Given the description of an element on the screen output the (x, y) to click on. 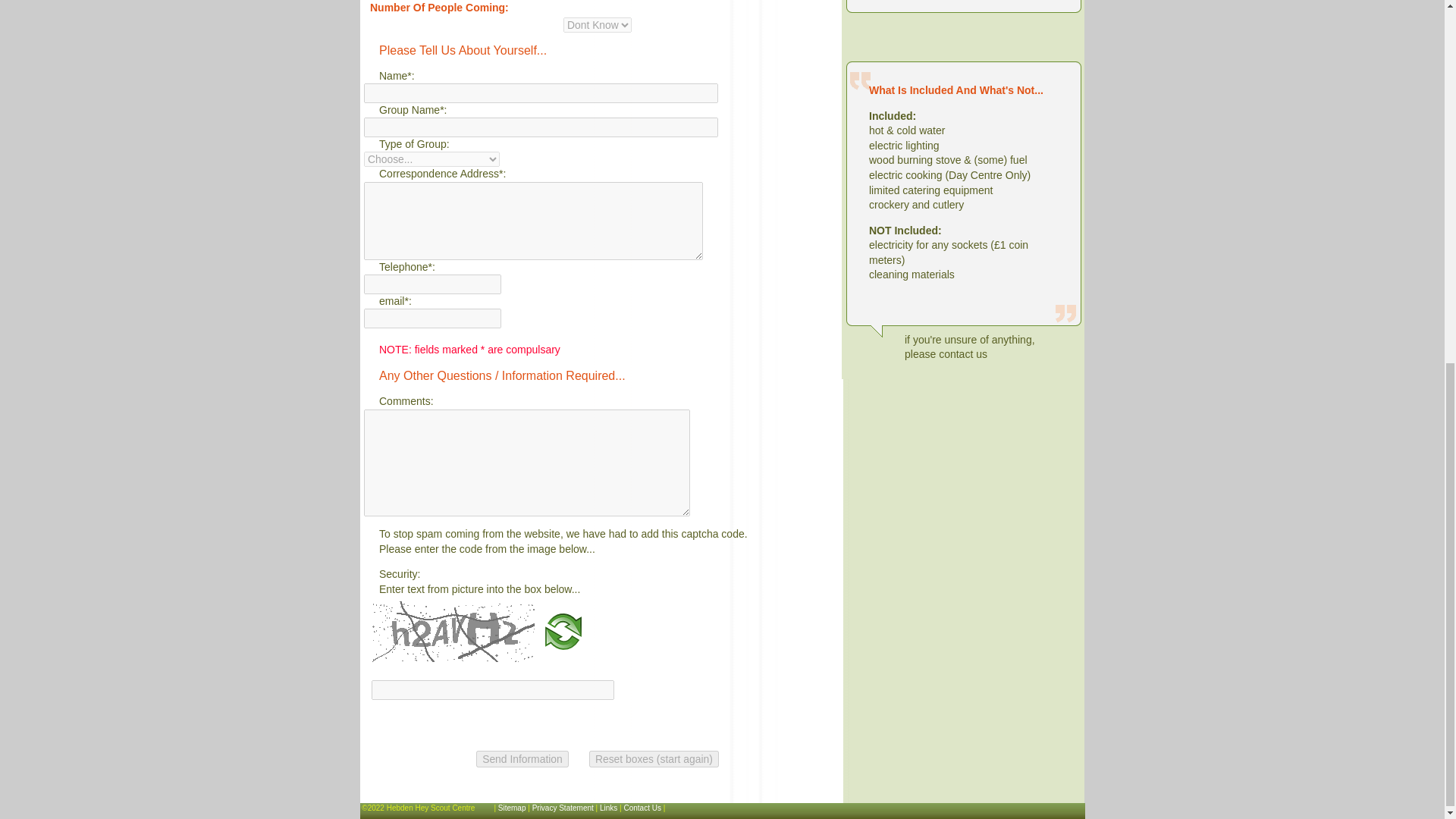
Send Information (522, 759)
